Given the description of an element on the screen output the (x, y) to click on. 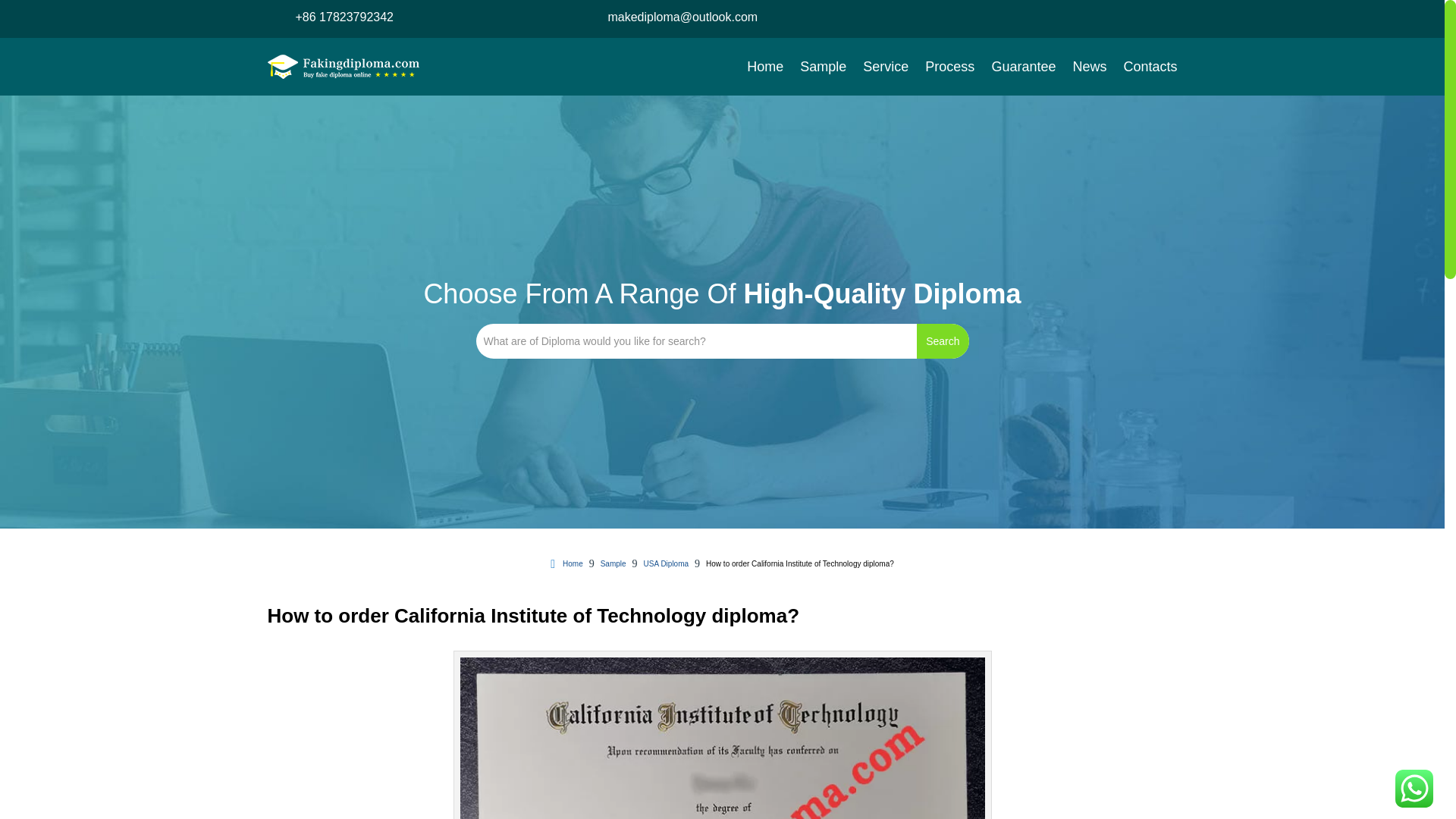
Search (942, 340)
Sample (612, 564)
Contacts (1149, 66)
Search (942, 340)
USA Diploma (665, 564)
Search (942, 340)
Home (566, 564)
Guarantee (1023, 66)
